Given the description of an element on the screen output the (x, y) to click on. 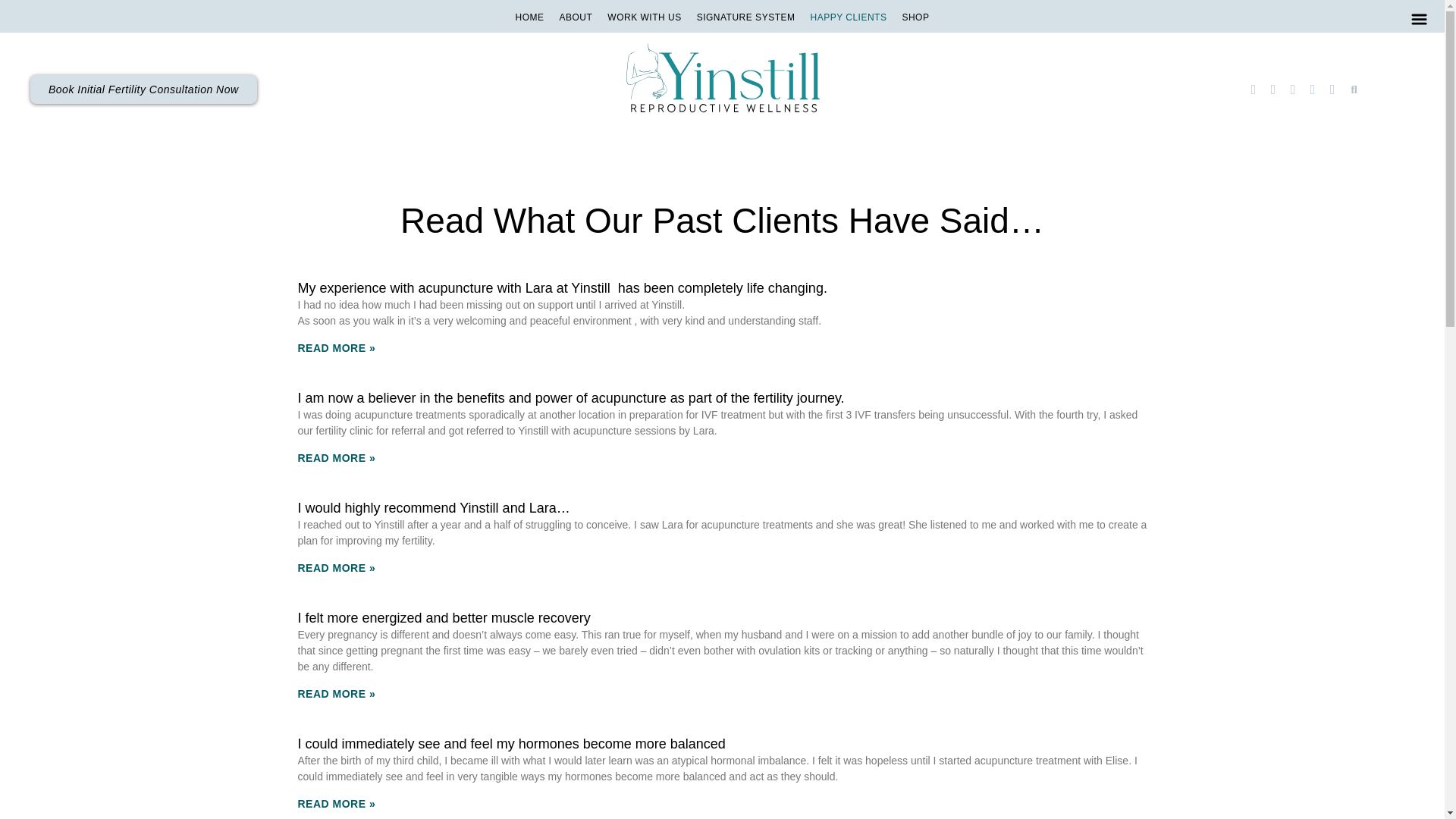
Twitter (1292, 89)
SHOP (914, 17)
I felt more energized and better muscle recovery (443, 617)
HOME (529, 17)
HAPPY CLIENTS (847, 17)
WORK WITH US (643, 17)
Youtube (1312, 89)
SIGNATURE SYSTEM (745, 17)
ABOUT (575, 17)
Envelope (1331, 89)
Instagram (1253, 89)
Facebook-f (1272, 89)
